Given the description of an element on the screen output the (x, y) to click on. 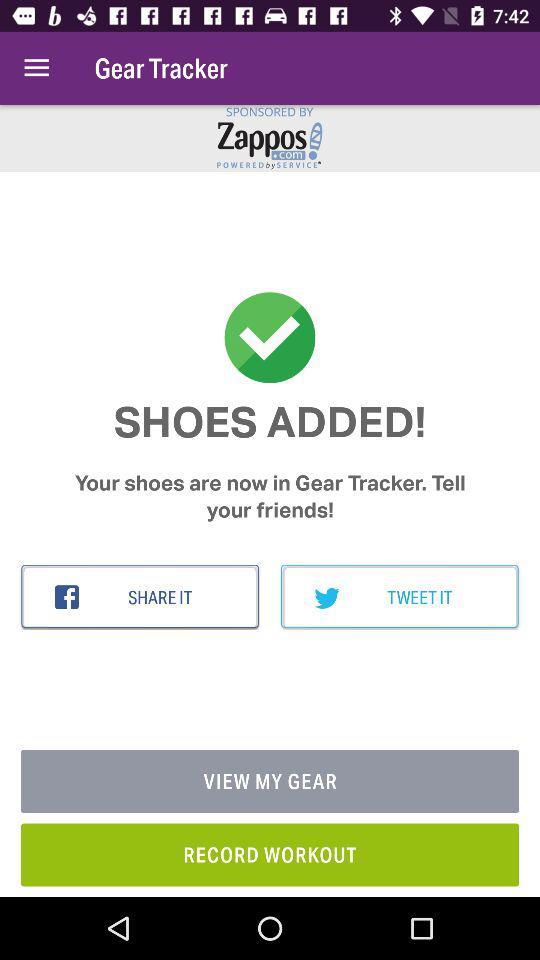
select item on the right (399, 597)
